Given the description of an element on the screen output the (x, y) to click on. 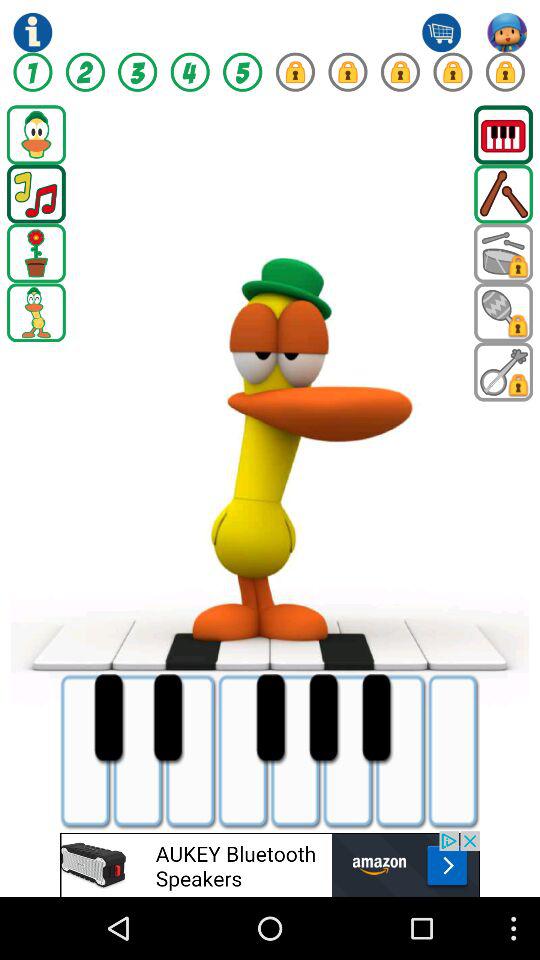
music (36, 193)
